Given the description of an element on the screen output the (x, y) to click on. 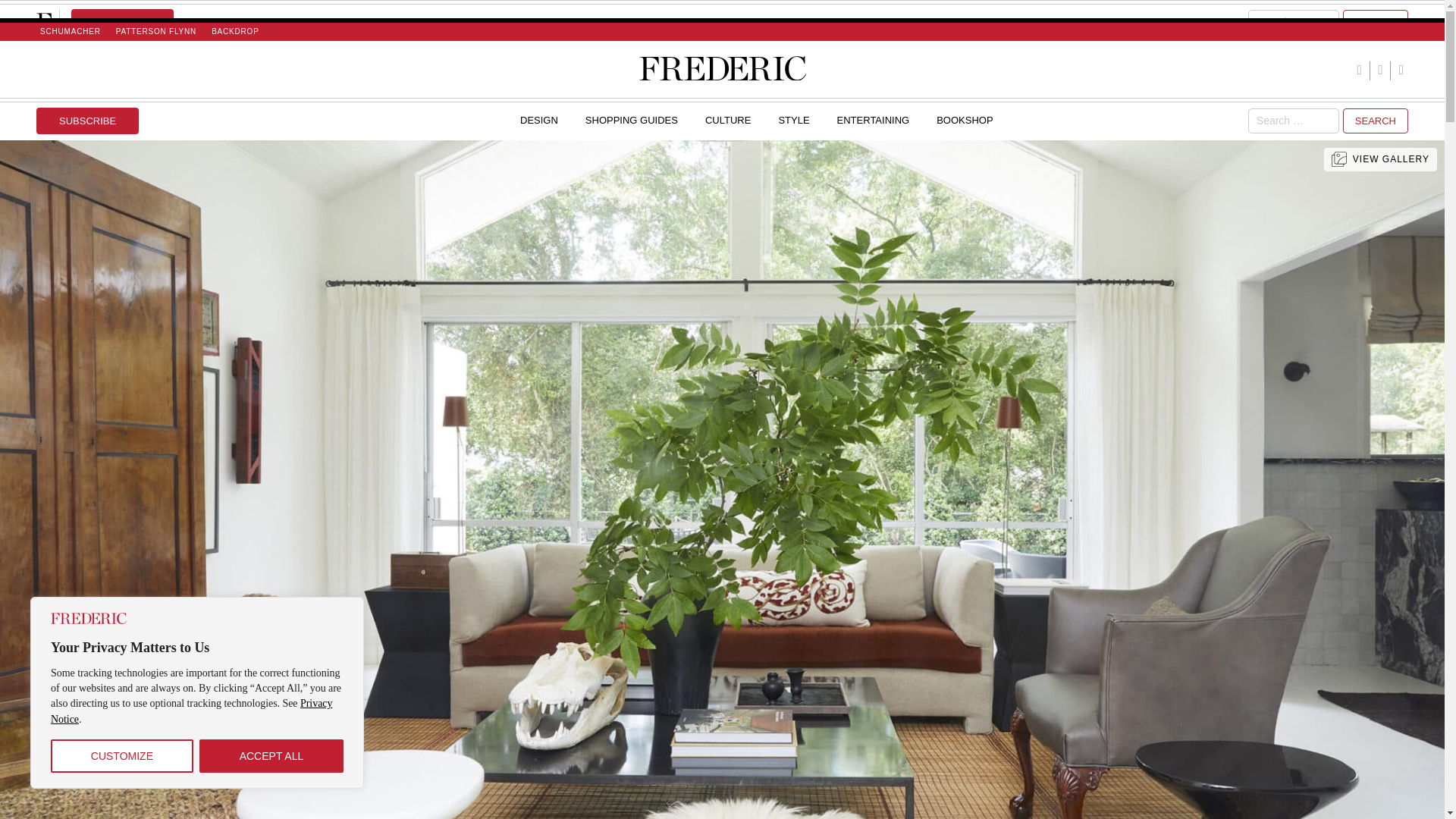
BACKDROP (235, 31)
Search (1374, 22)
SHOPPING GUIDES (631, 120)
Search (1374, 22)
CUSTOMIZE (121, 756)
DESIGN (538, 120)
SCHUMACHER (70, 31)
Search (1374, 121)
Privacy Notice (190, 710)
PATTERSON FLYNN (156, 31)
SUBSCRIBE (87, 120)
Search (1374, 121)
ACCEPT ALL (271, 756)
